Given the description of an element on the screen output the (x, y) to click on. 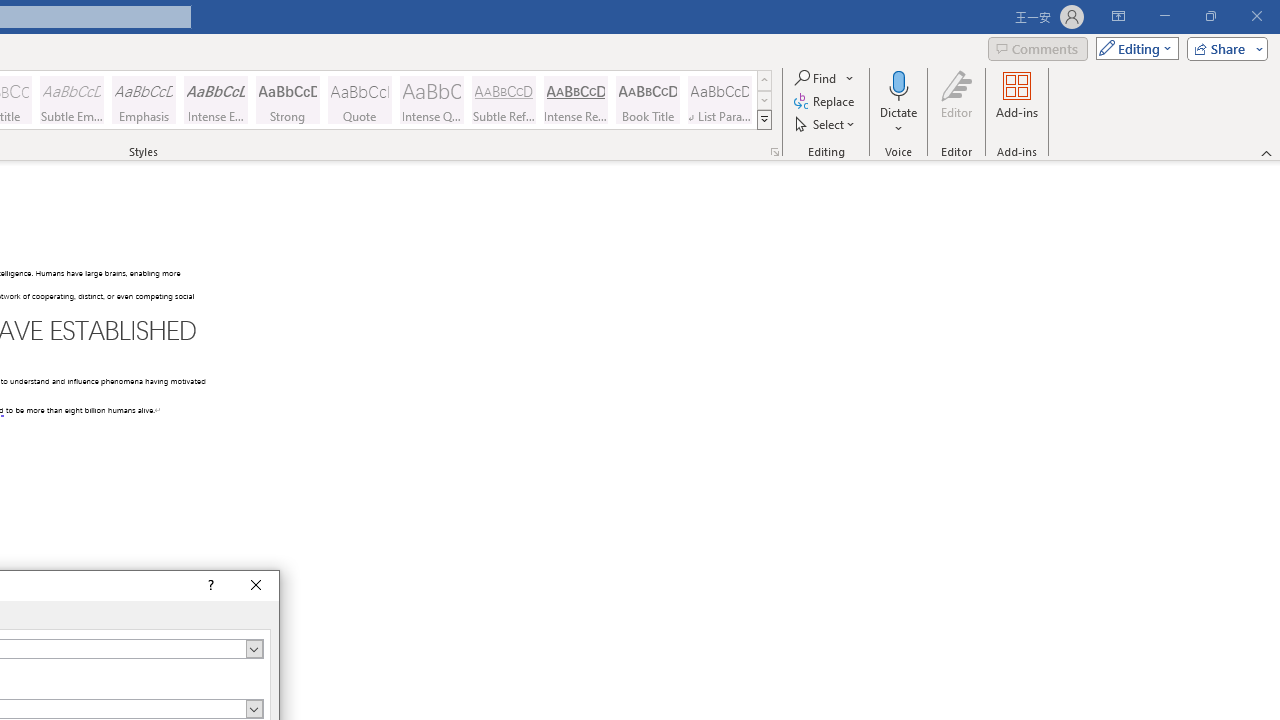
Intense Quote (431, 100)
Styles... (774, 151)
Subtle Emphasis (71, 100)
More Options (899, 121)
Emphasis (143, 100)
Find (824, 78)
Row up (763, 79)
Intense Emphasis (216, 100)
Ribbon Display Options (1118, 16)
Select (826, 124)
Find (817, 78)
Row Down (763, 100)
Class: NetUIImage (765, 119)
Collapse the Ribbon (1267, 152)
